Given the description of an element on the screen output the (x, y) to click on. 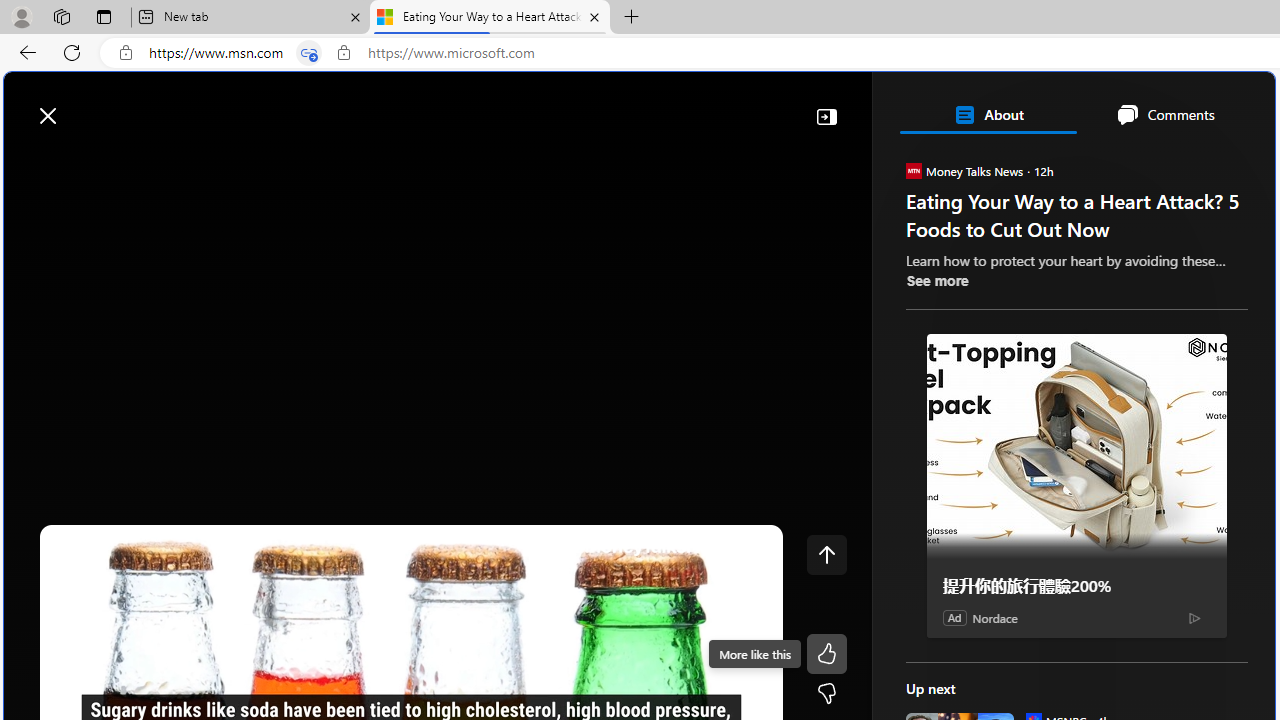
Class: control icon-only (826, 554)
Class: button-glyph (29, 162)
Web search (283, 105)
ABC News (974, 557)
